Given the description of an element on the screen output the (x, y) to click on. 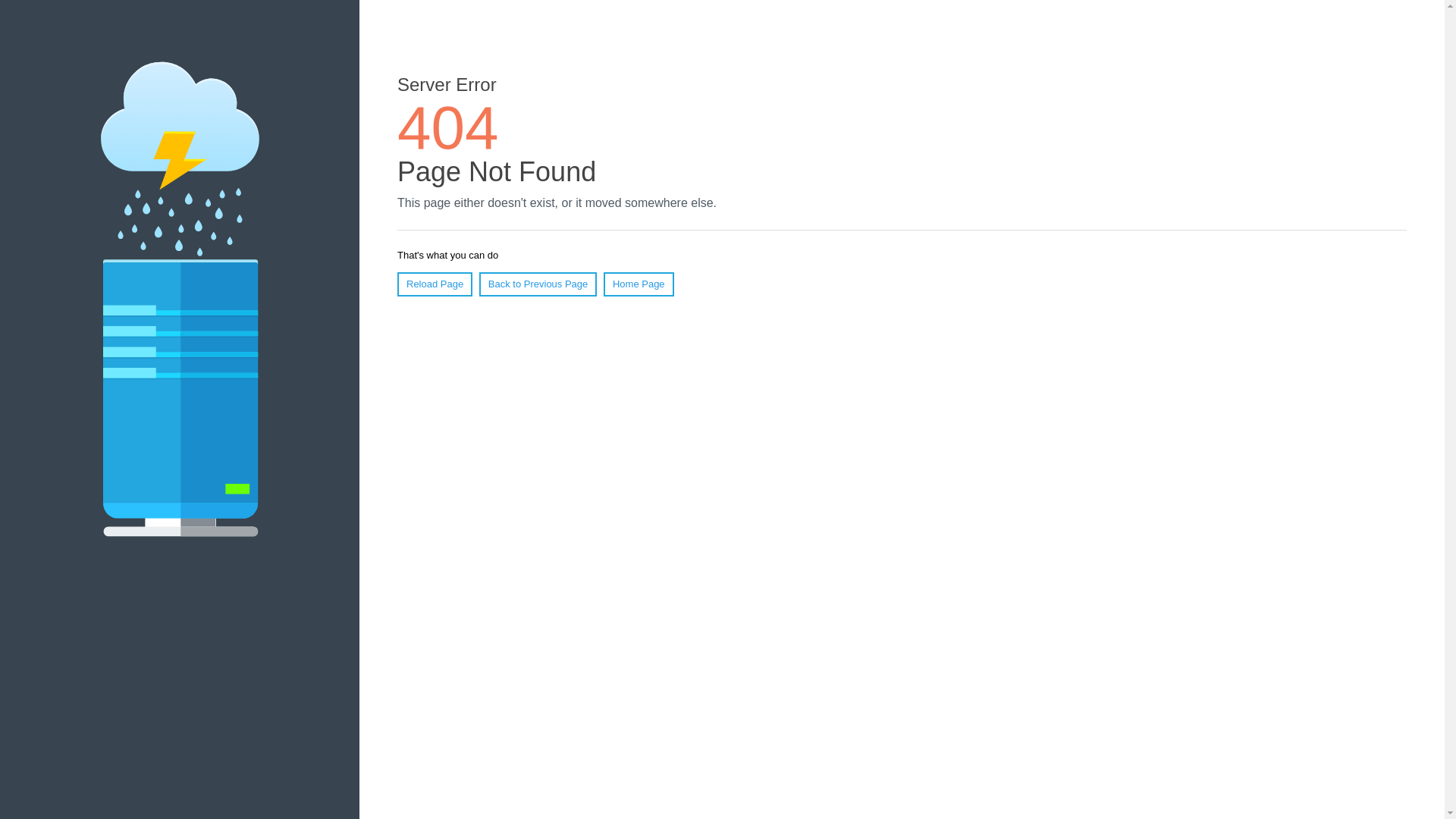
Reload Page (434, 283)
Back to Previous Page (537, 283)
Home Page (639, 283)
